Given the description of an element on the screen output the (x, y) to click on. 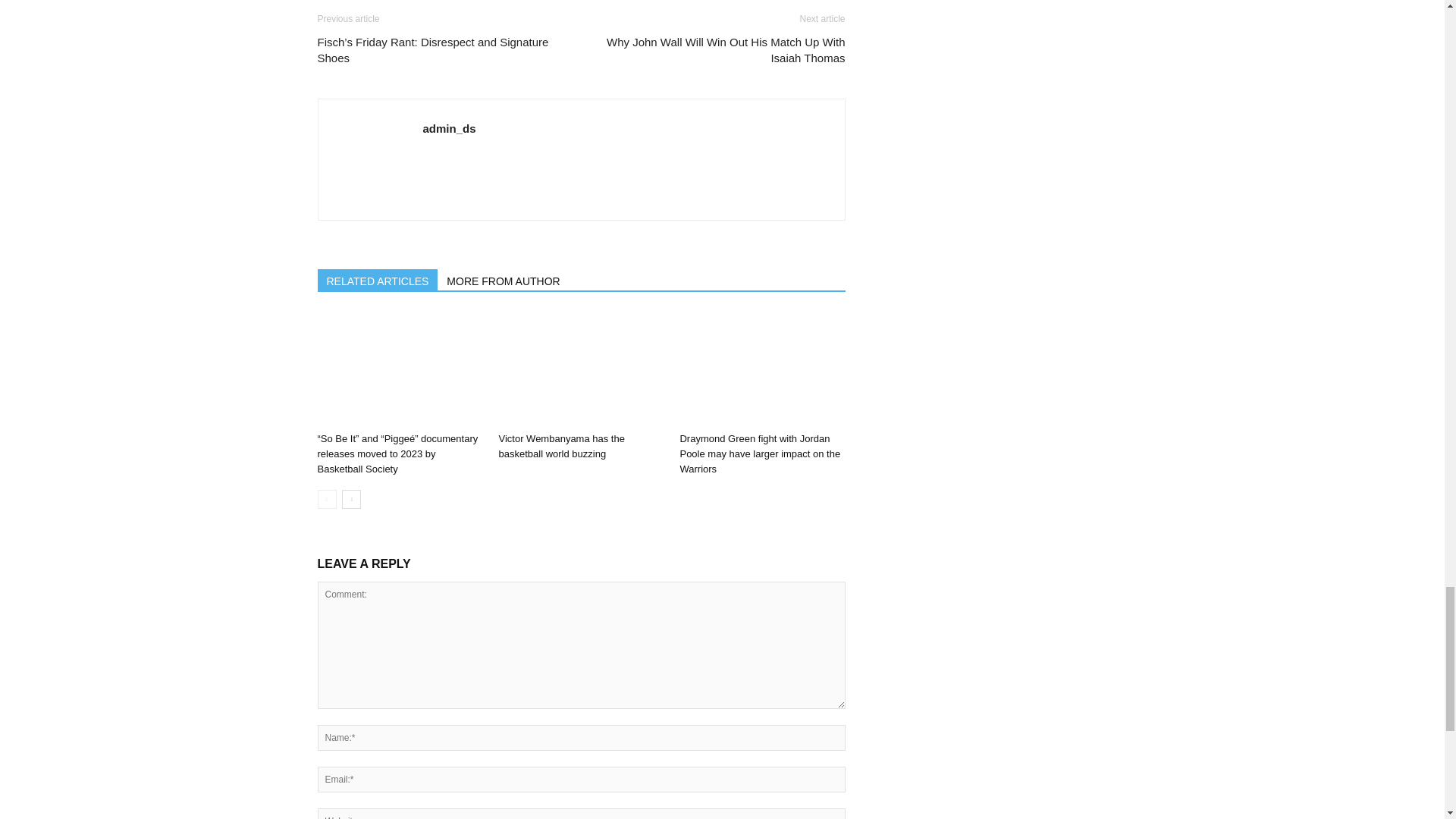
Victor Wembanyama has the basketball world buzzing (560, 446)
Victor Wembanyama has the basketball world buzzing (580, 368)
